Given the description of an element on the screen output the (x, y) to click on. 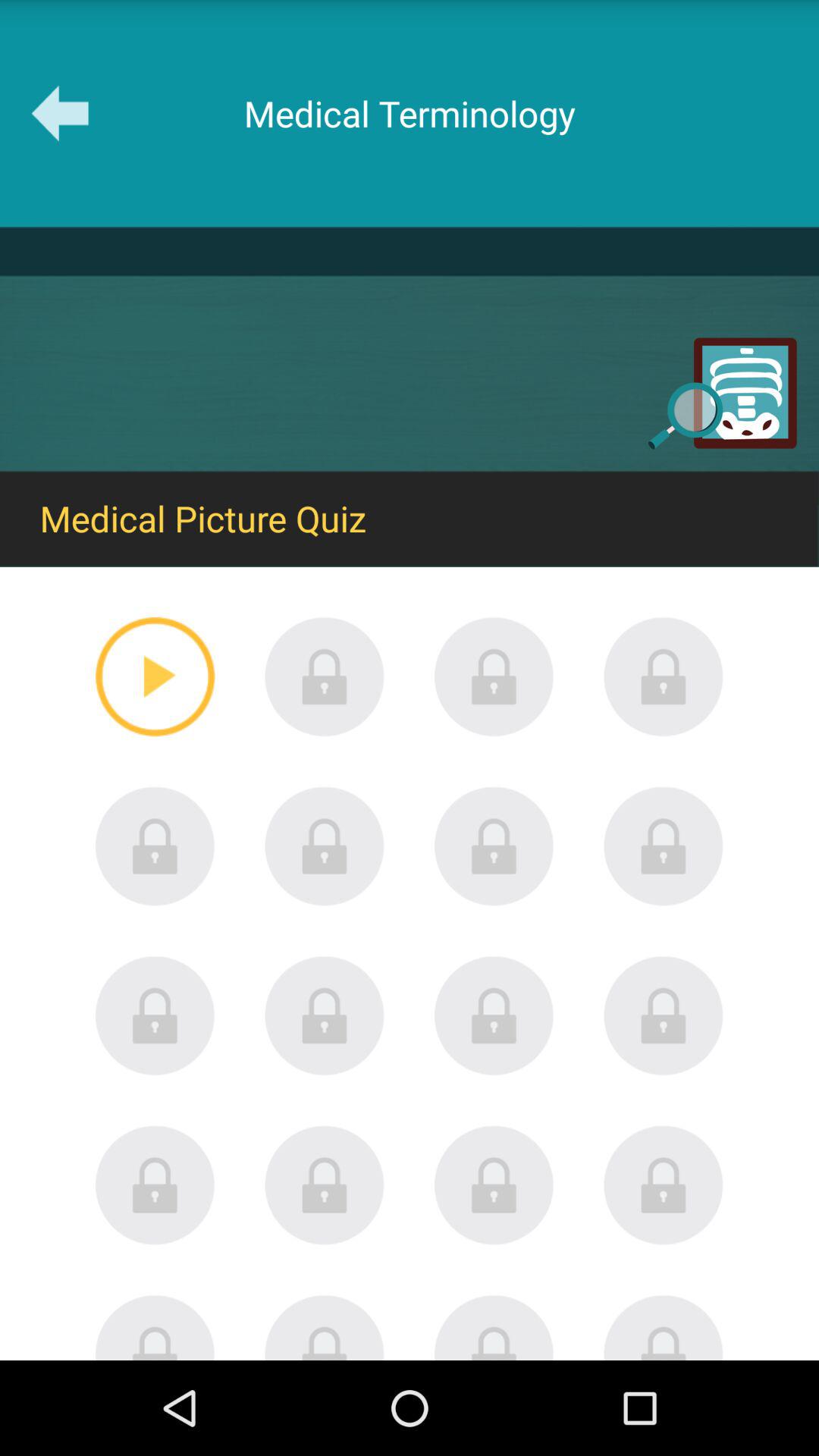
press to select (493, 1015)
